Given the description of an element on the screen output the (x, y) to click on. 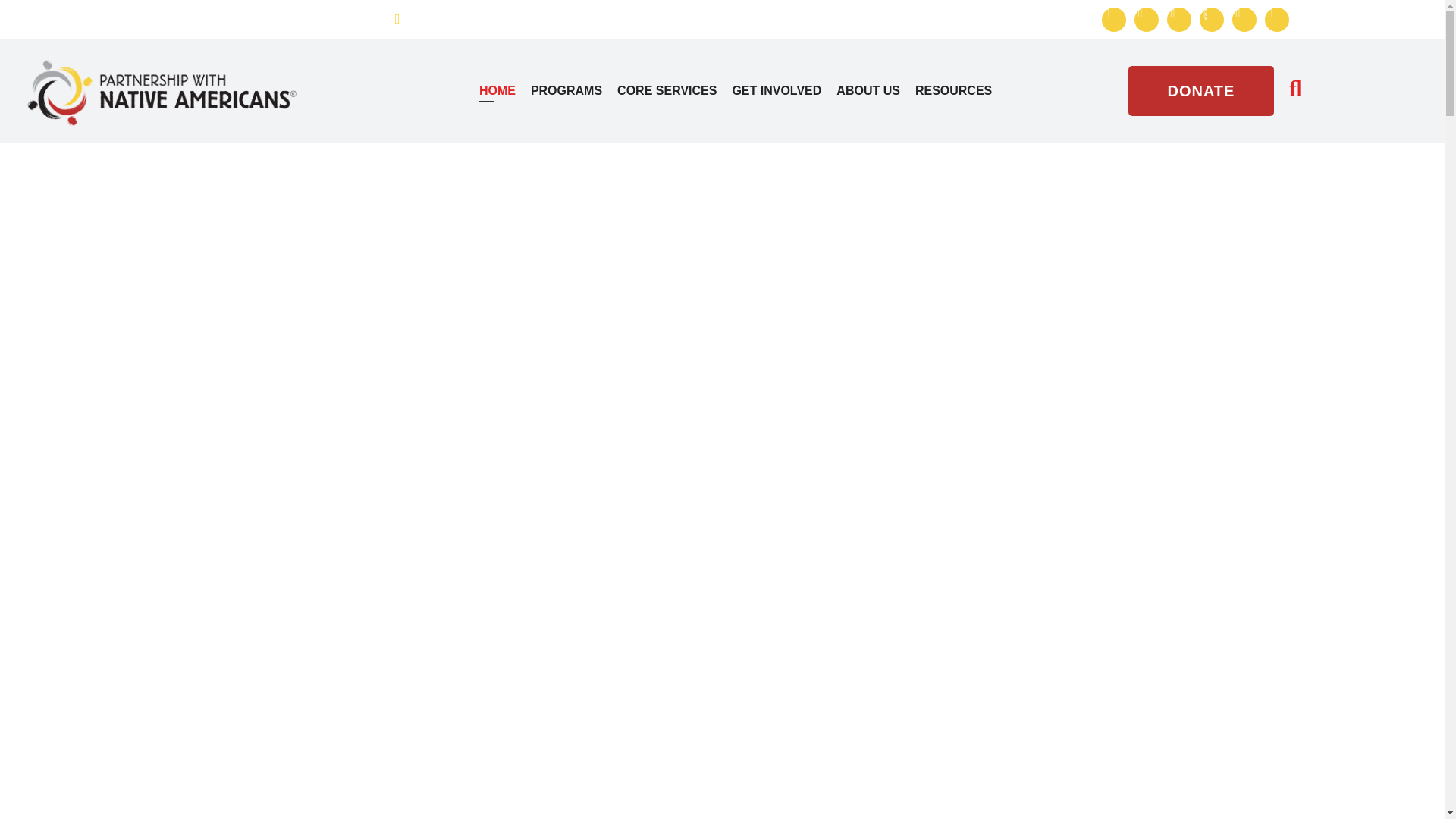
PROGRAMS (558, 90)
ABOUT US (860, 90)
GET INVOLVED (768, 90)
HOME (489, 90)
CORE SERVICES (659, 90)
PROGRAMS (558, 90)
HOME (489, 90)
CORE SERVICES (659, 90)
